Given the description of an element on the screen output the (x, y) to click on. 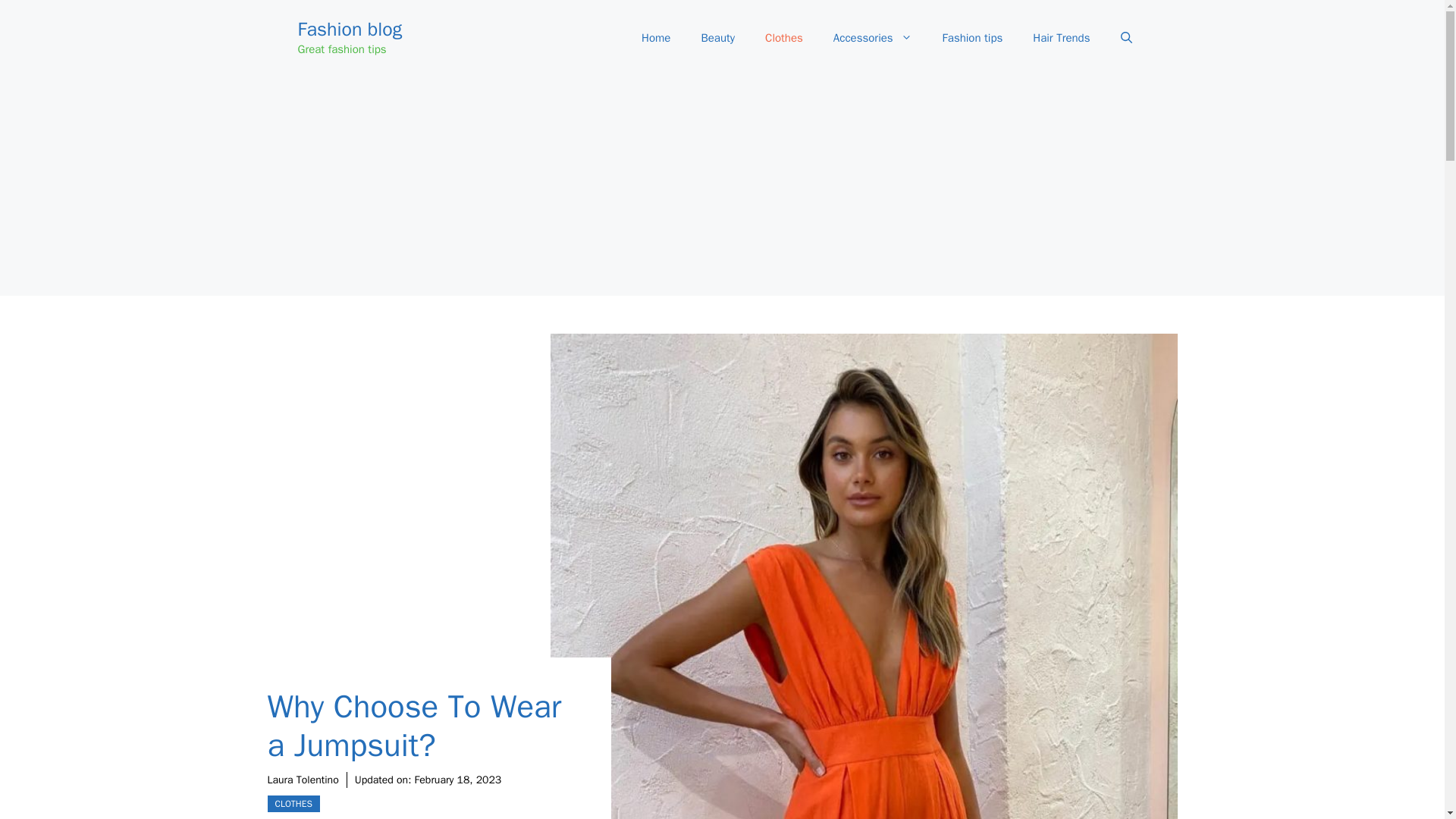
Hair Trends (1061, 37)
Accessories (872, 37)
Fashion blog (349, 28)
Beauty (717, 37)
CLOTHES (292, 803)
Home (655, 37)
Clothes (783, 37)
Fashion tips (972, 37)
Laura Tolentino (301, 779)
